Given the description of an element on the screen output the (x, y) to click on. 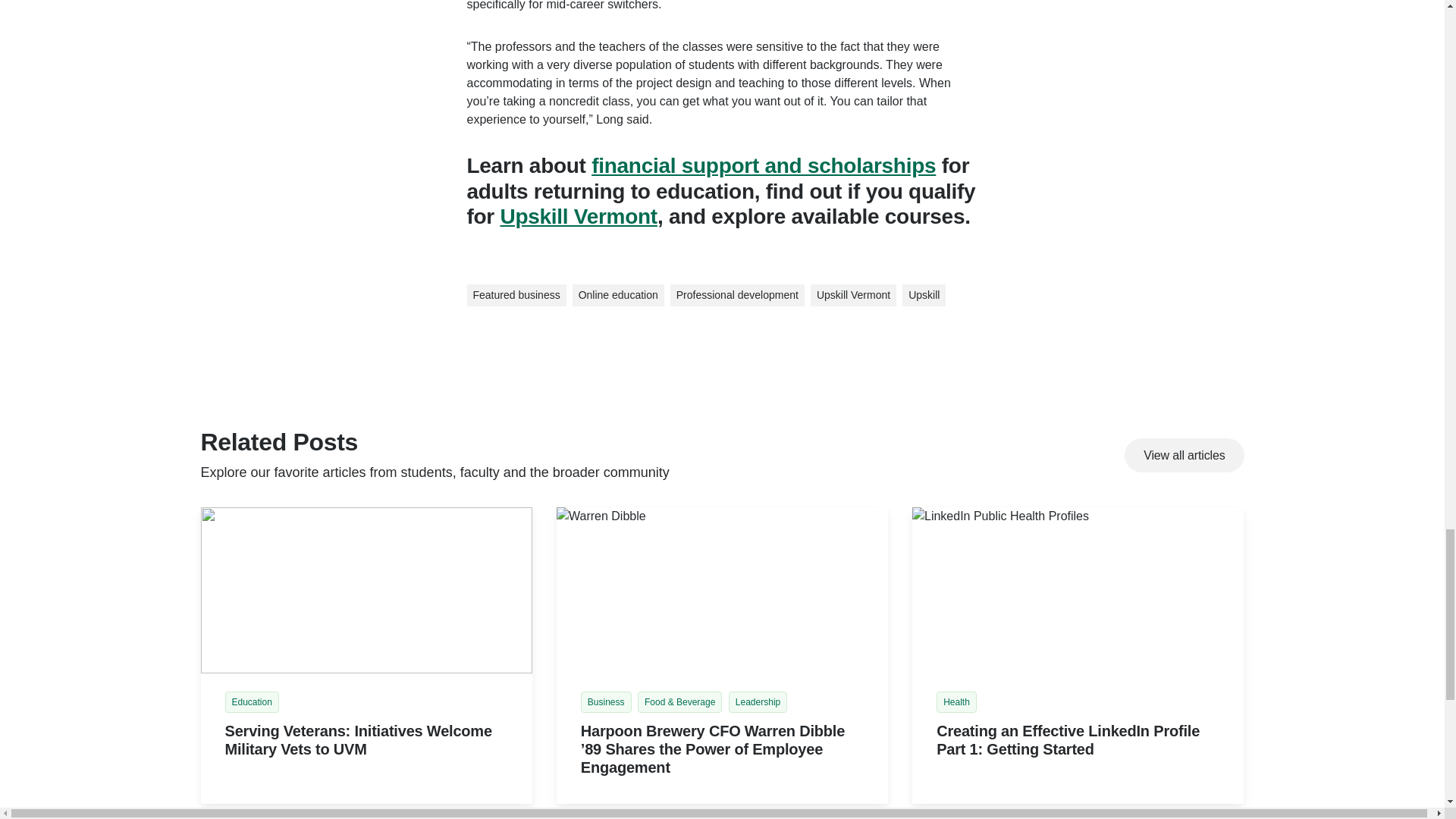
Warren Dibble - UVM Professional and Continuing Education (722, 589)
 - UVM Professional and Continuing Education (365, 589)
